Given the description of an element on the screen output the (x, y) to click on. 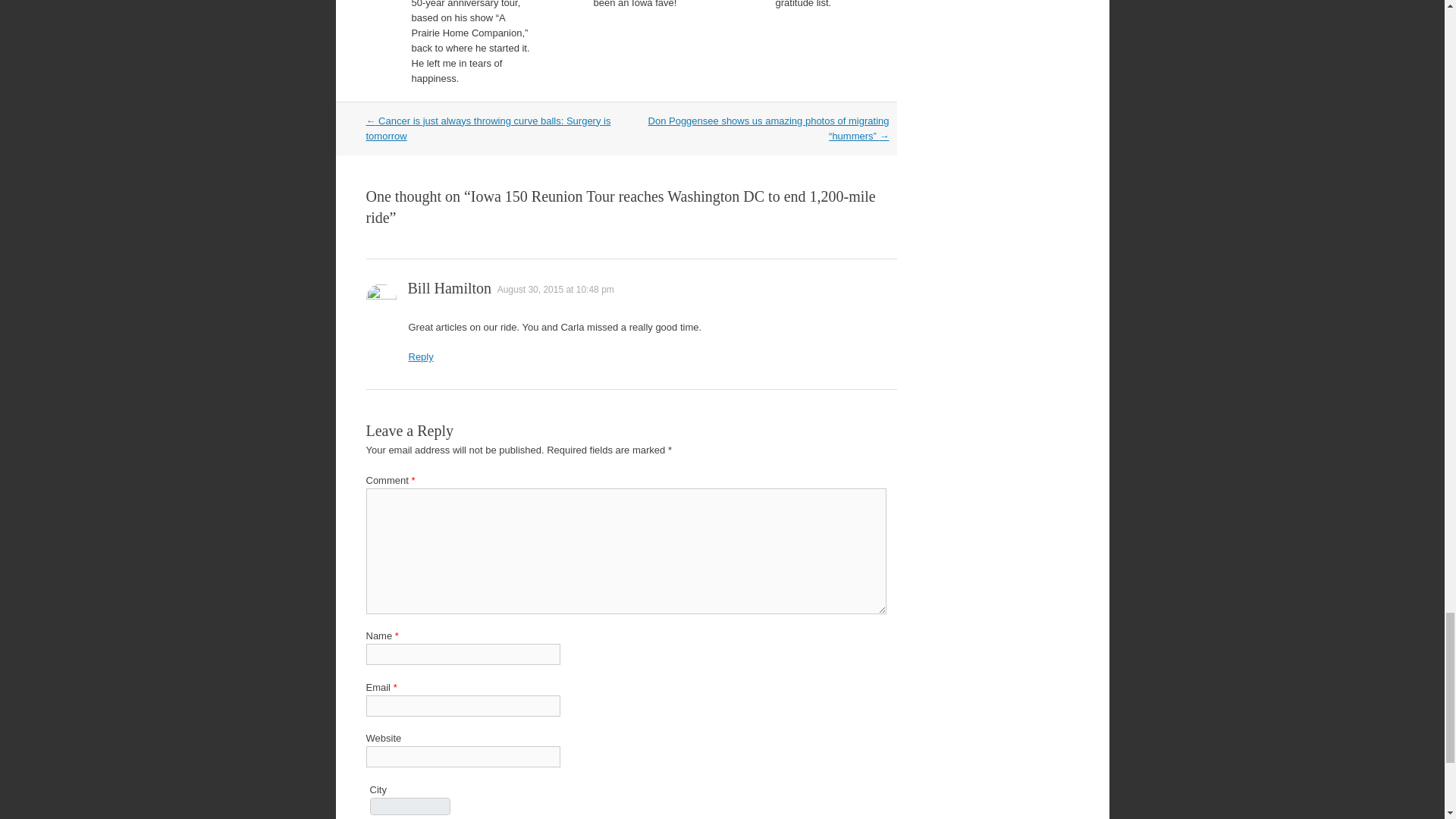
August 30, 2015 at 10:48 pm (555, 289)
Reply (419, 356)
